Given the description of an element on the screen output the (x, y) to click on. 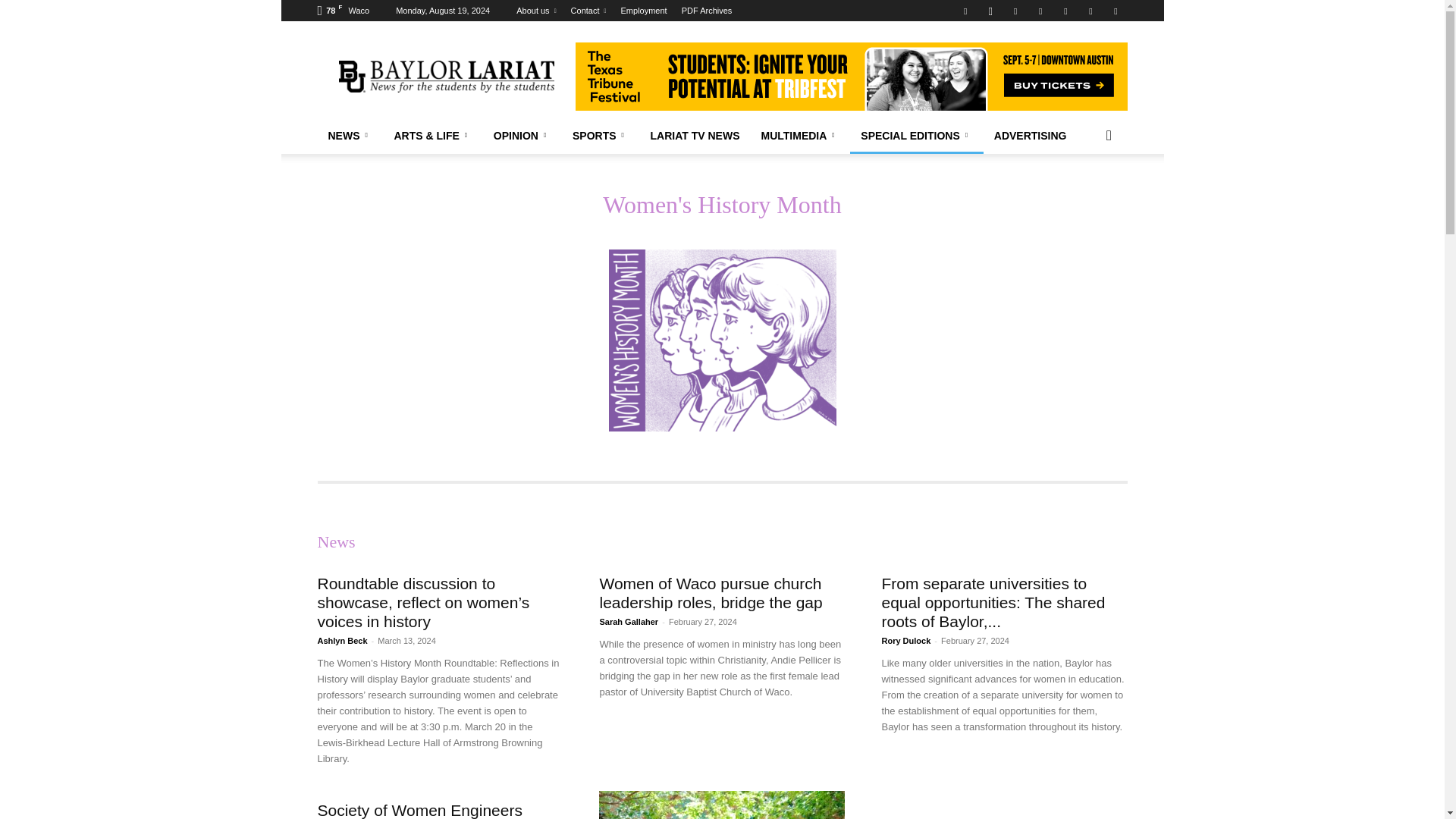
Facebook (964, 10)
Linkedin (1015, 10)
Instagram (989, 10)
Contact the Lariat (588, 10)
Student Employment (643, 10)
